Given the description of an element on the screen output the (x, y) to click on. 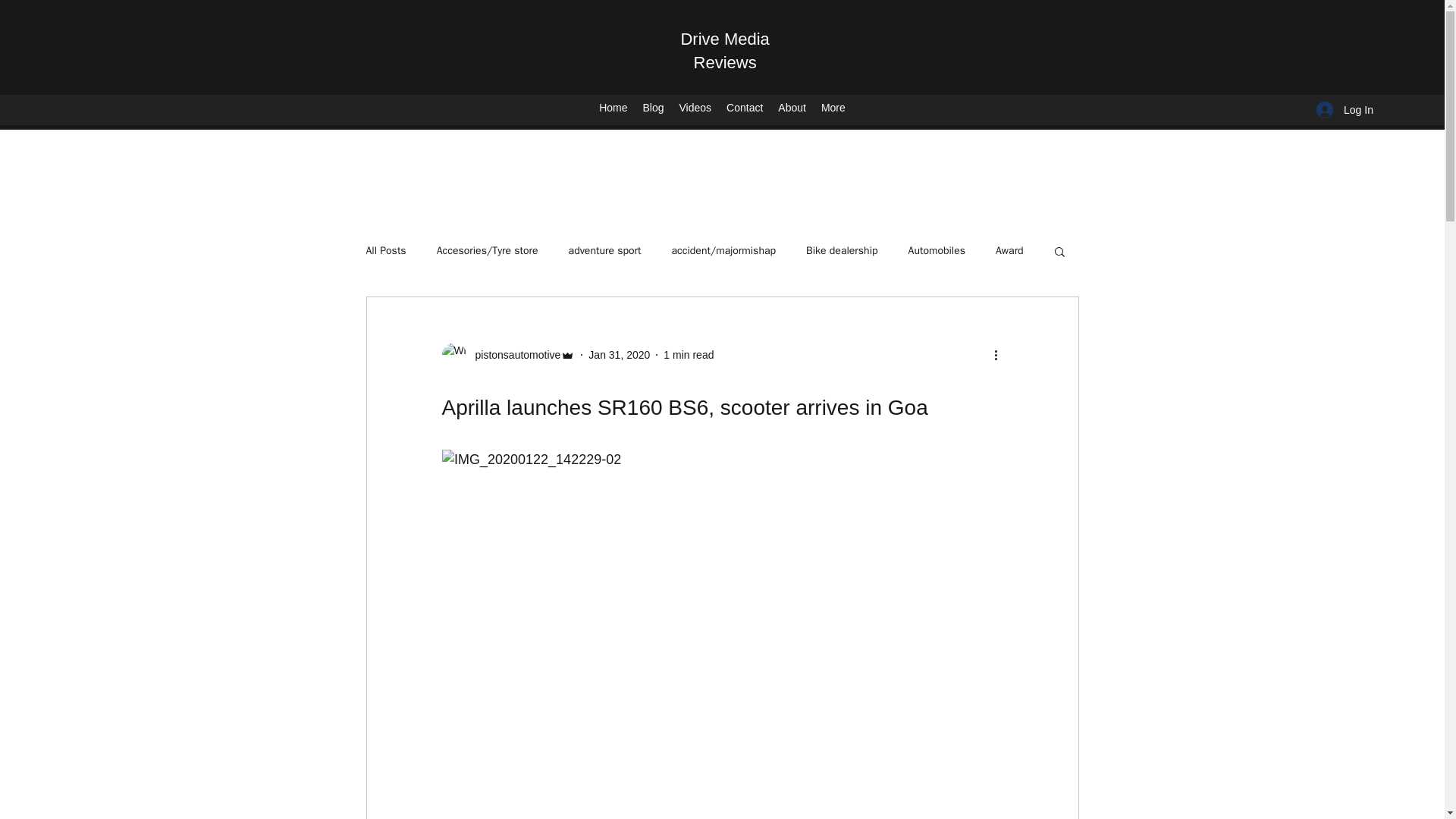
pistonsautomotive (512, 355)
Blog (652, 109)
Automobiles (936, 250)
Jan 31, 2020 (618, 354)
Log In (1345, 109)
Contact (744, 109)
Bike dealership (841, 250)
Drive Media Reviews (723, 50)
adventure sport (605, 250)
1 min read (688, 354)
Award (1009, 250)
Home (612, 109)
Videos (695, 109)
About (791, 109)
pistonsautomotive (508, 354)
